Given the description of an element on the screen output the (x, y) to click on. 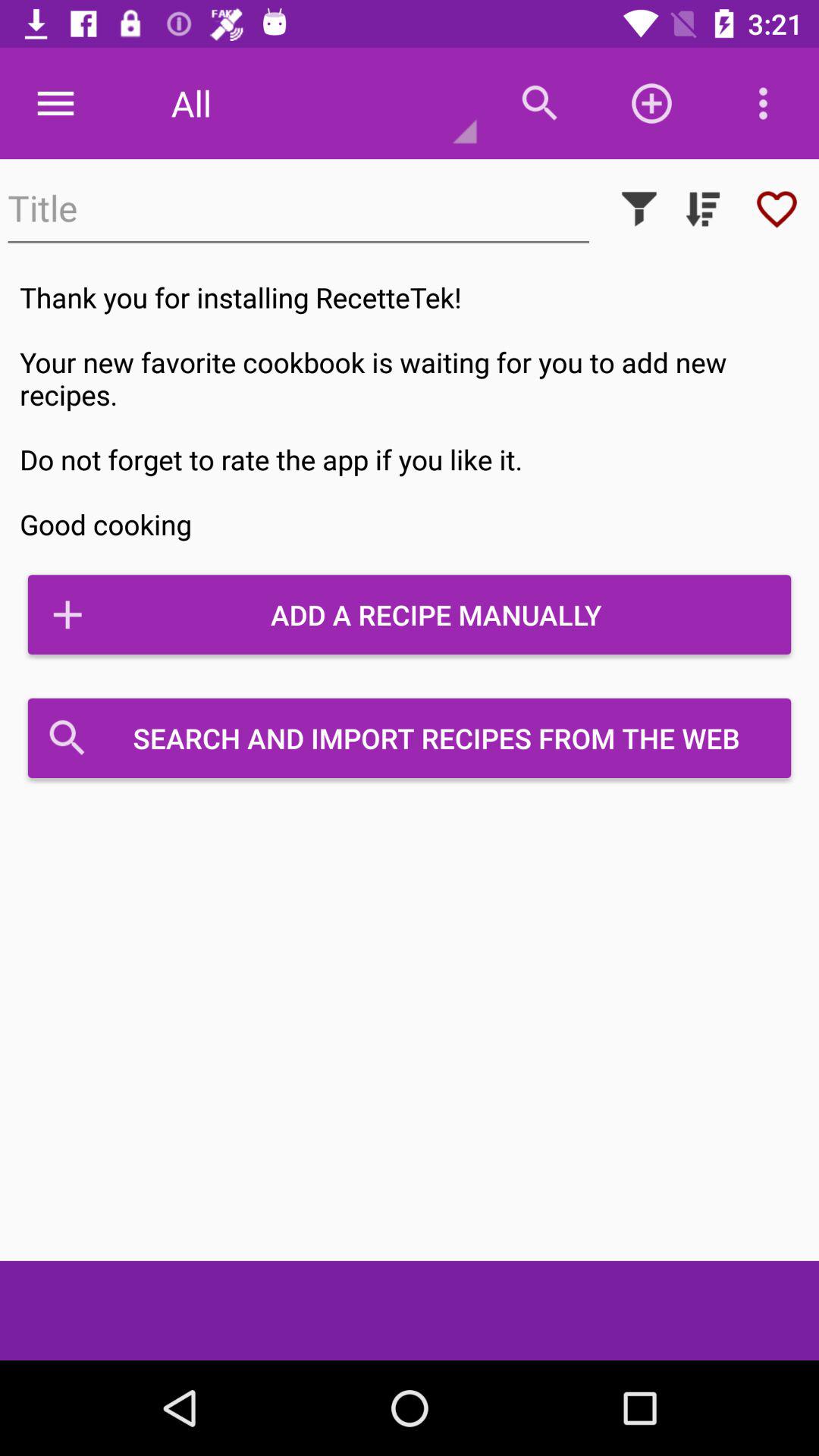
press the item above thank you for item (776, 208)
